Given the description of an element on the screen output the (x, y) to click on. 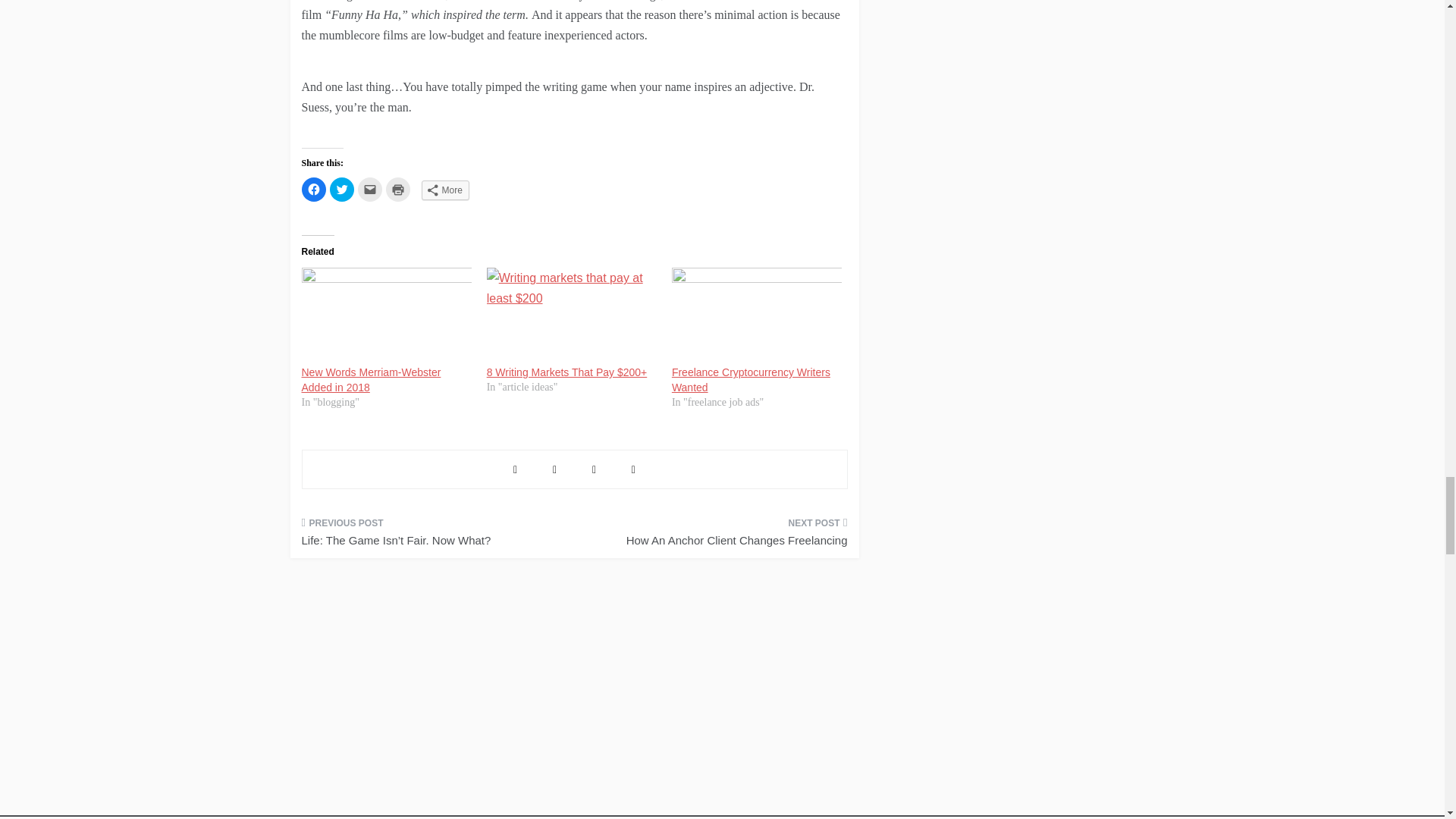
Click to share on Twitter (341, 189)
More (445, 189)
Click to share on Facebook (313, 189)
Freelance Cryptocurrency Writers Wanted (750, 379)
New Words Merriam-Webster Added in 2018 (386, 315)
Click to email a link to a friend (369, 189)
New Words Merriam-Webster Added in 2018 (371, 379)
Freelance Cryptocurrency Writers Wanted (750, 379)
New Words Merriam-Webster Added in 2018 (371, 379)
